Given the description of an element on the screen output the (x, y) to click on. 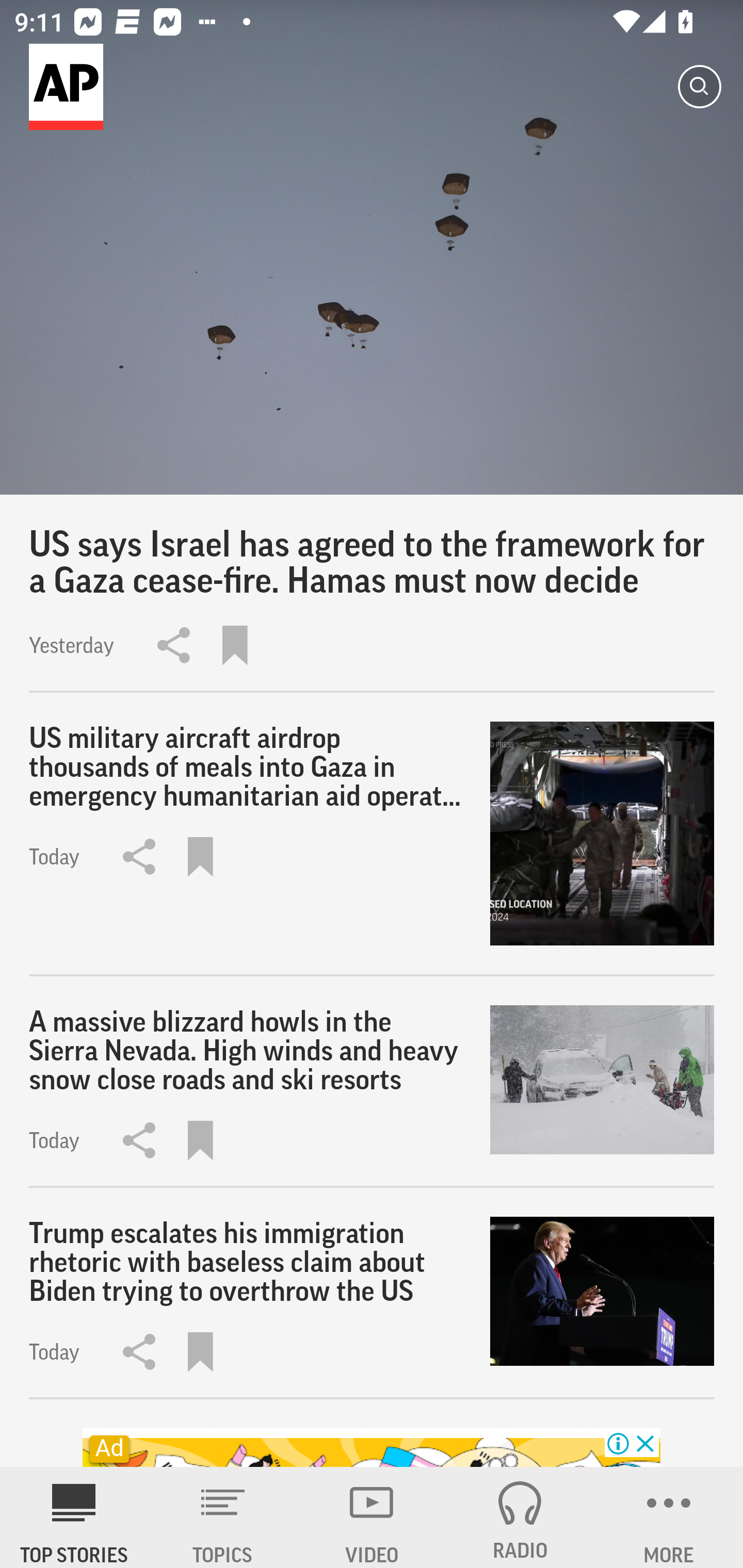
AP News TOP STORIES (74, 1517)
TOPICS (222, 1517)
VIDEO (371, 1517)
RADIO (519, 1517)
MORE (668, 1517)
